Given the description of an element on the screen output the (x, y) to click on. 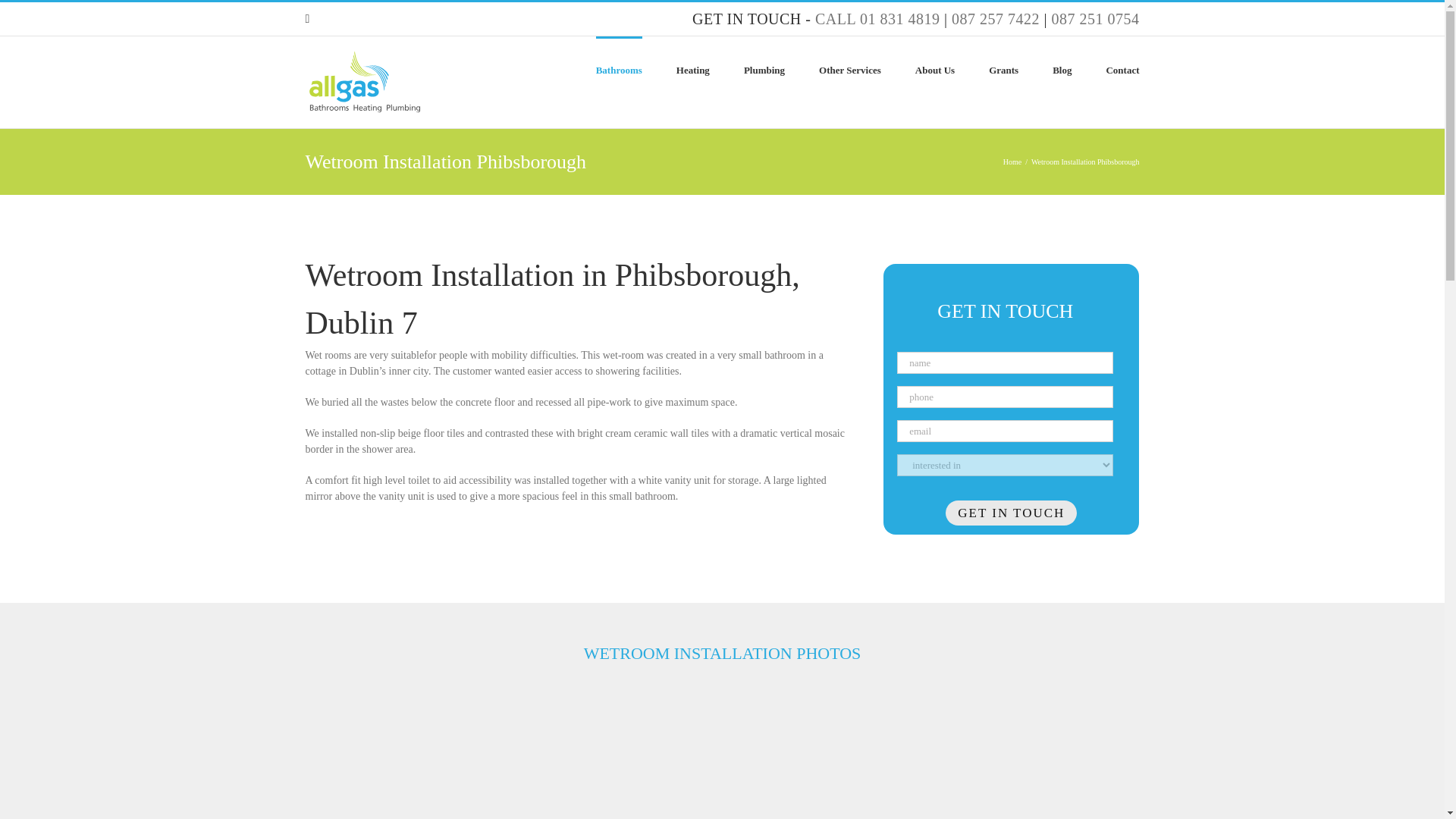
Get In Touch (1010, 512)
087 251 0754 (1094, 18)
CALL 01 831 4819 (877, 18)
Other Services (849, 68)
087 257 7422 (995, 18)
